Given the description of an element on the screen output the (x, y) to click on. 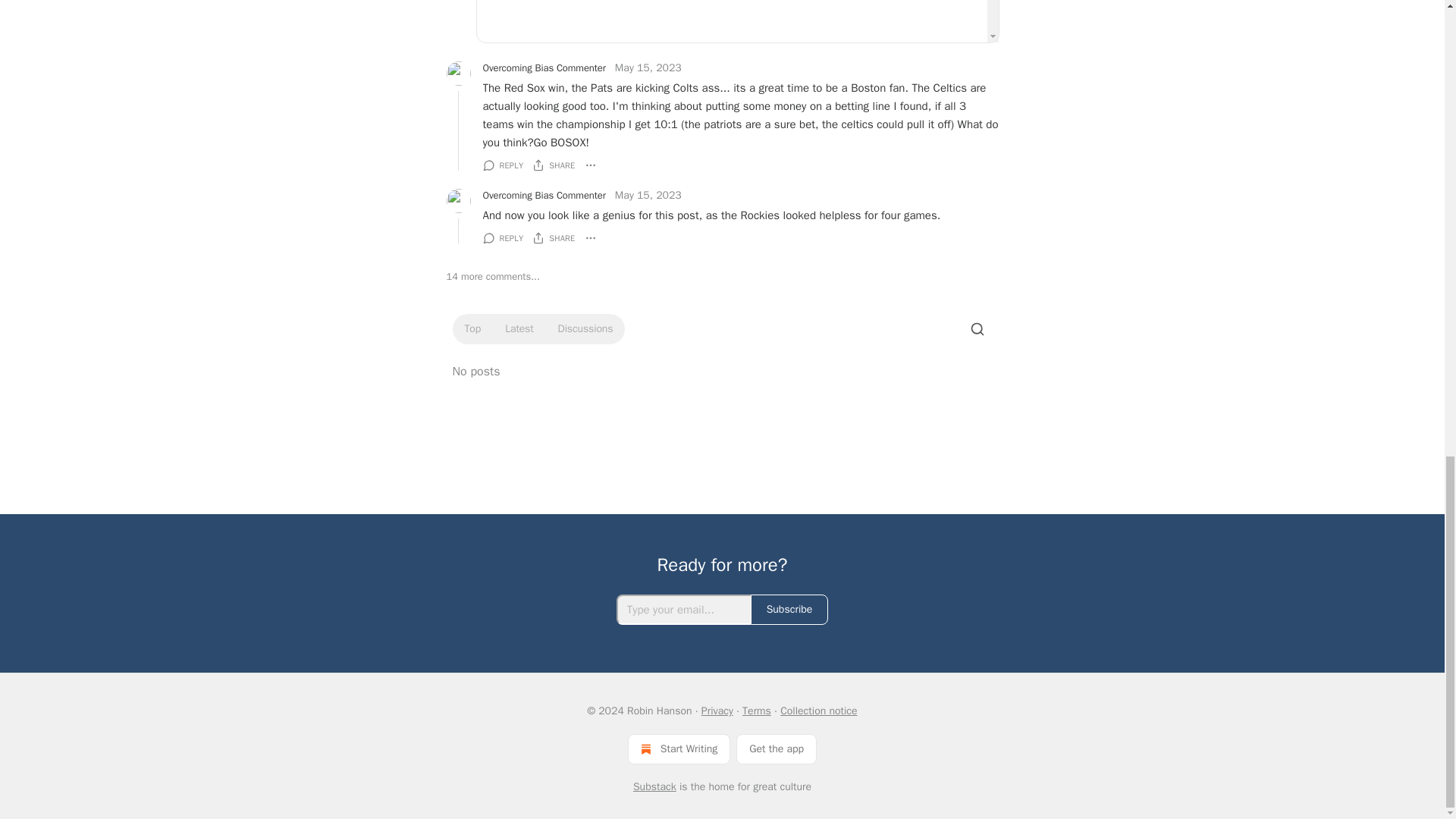
Overcoming Bias Commenter (543, 68)
